Given the description of an element on the screen output the (x, y) to click on. 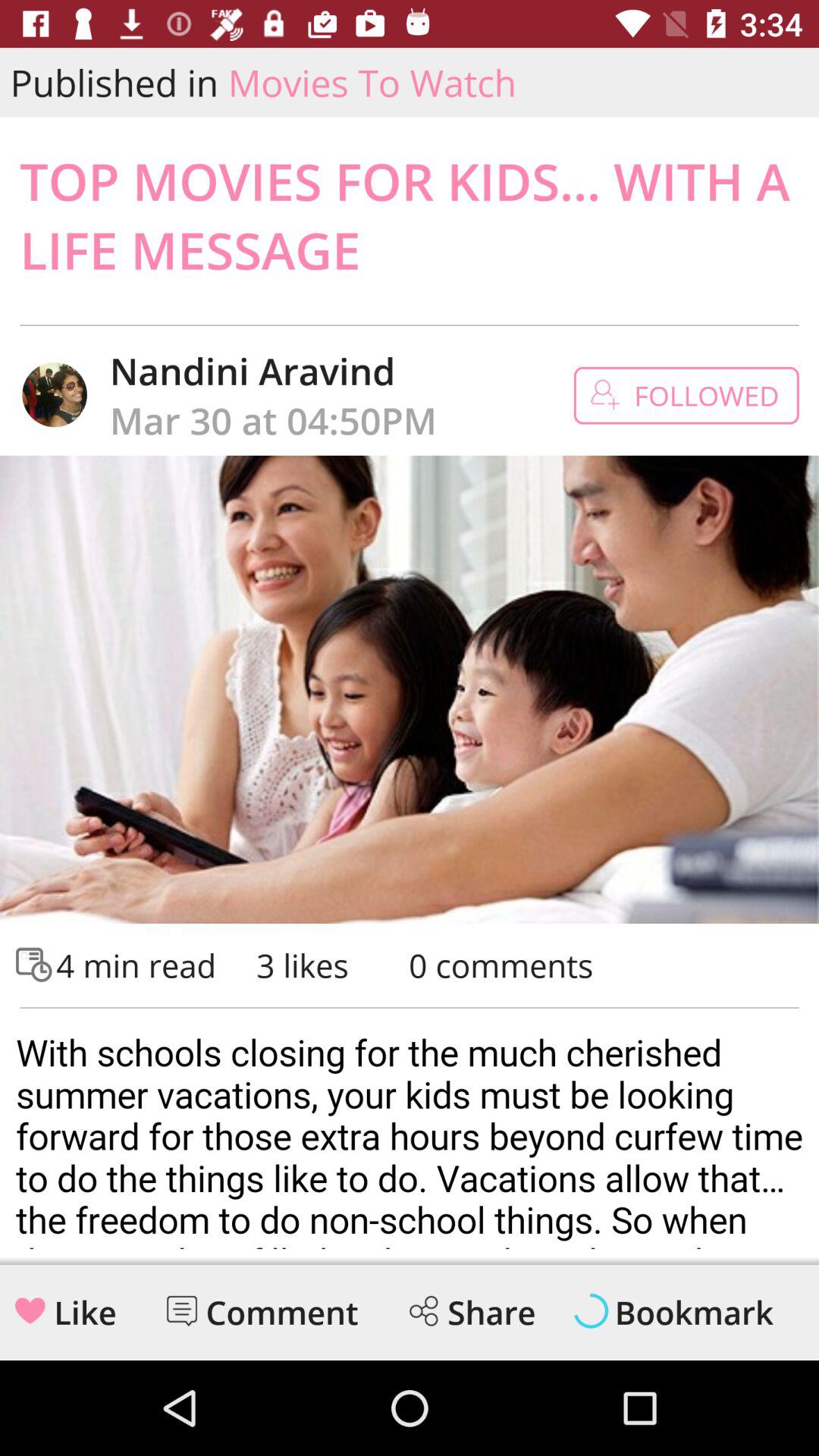
go to like (30, 1310)
